Given the description of an element on the screen output the (x, y) to click on. 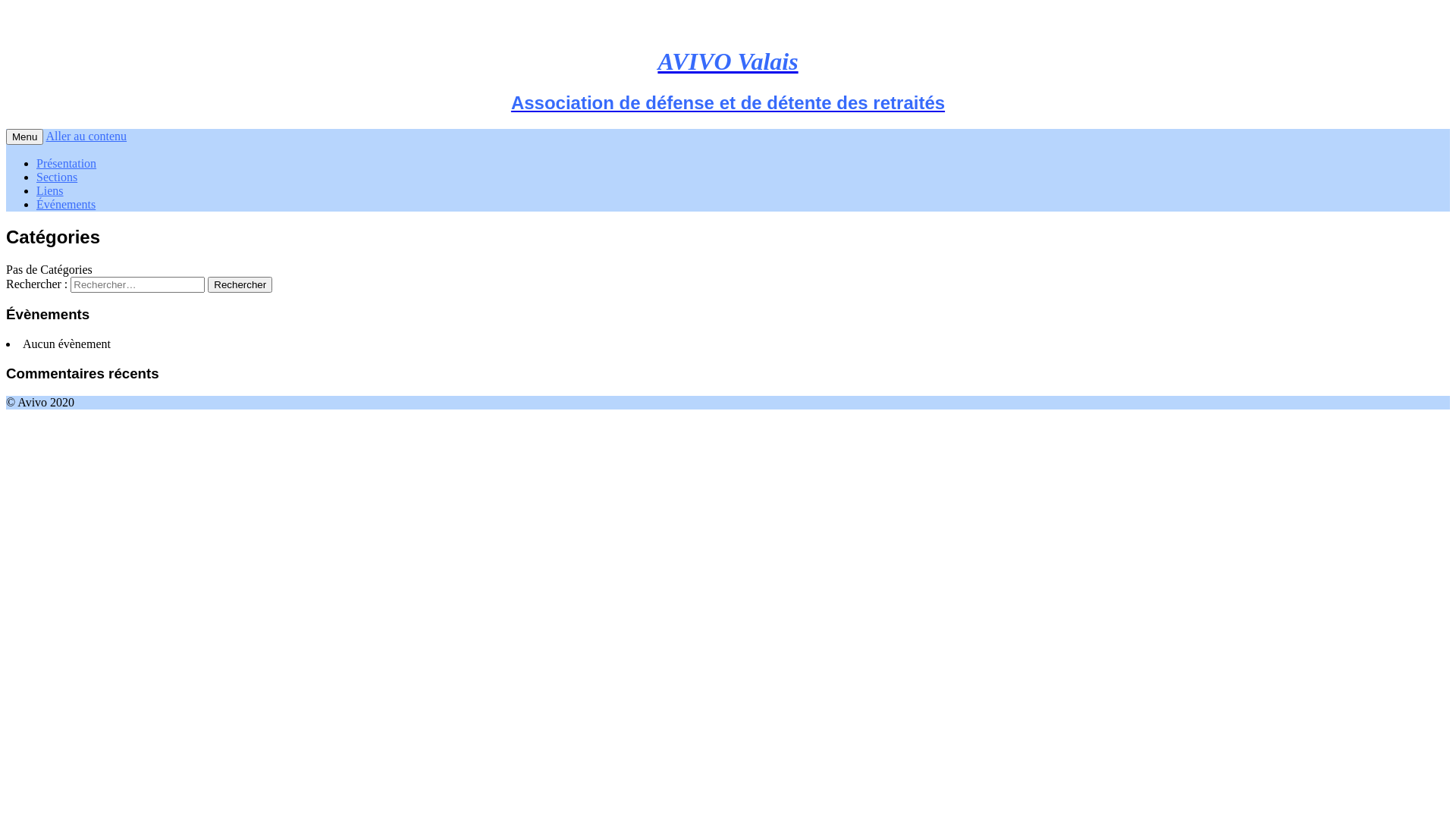
Liens Element type: text (49, 190)
Sections Element type: text (56, 176)
Rechercher Element type: text (239, 284)
Aller au contenu Element type: text (85, 135)
Menu Element type: text (24, 136)
